Given the description of an element on the screen output the (x, y) to click on. 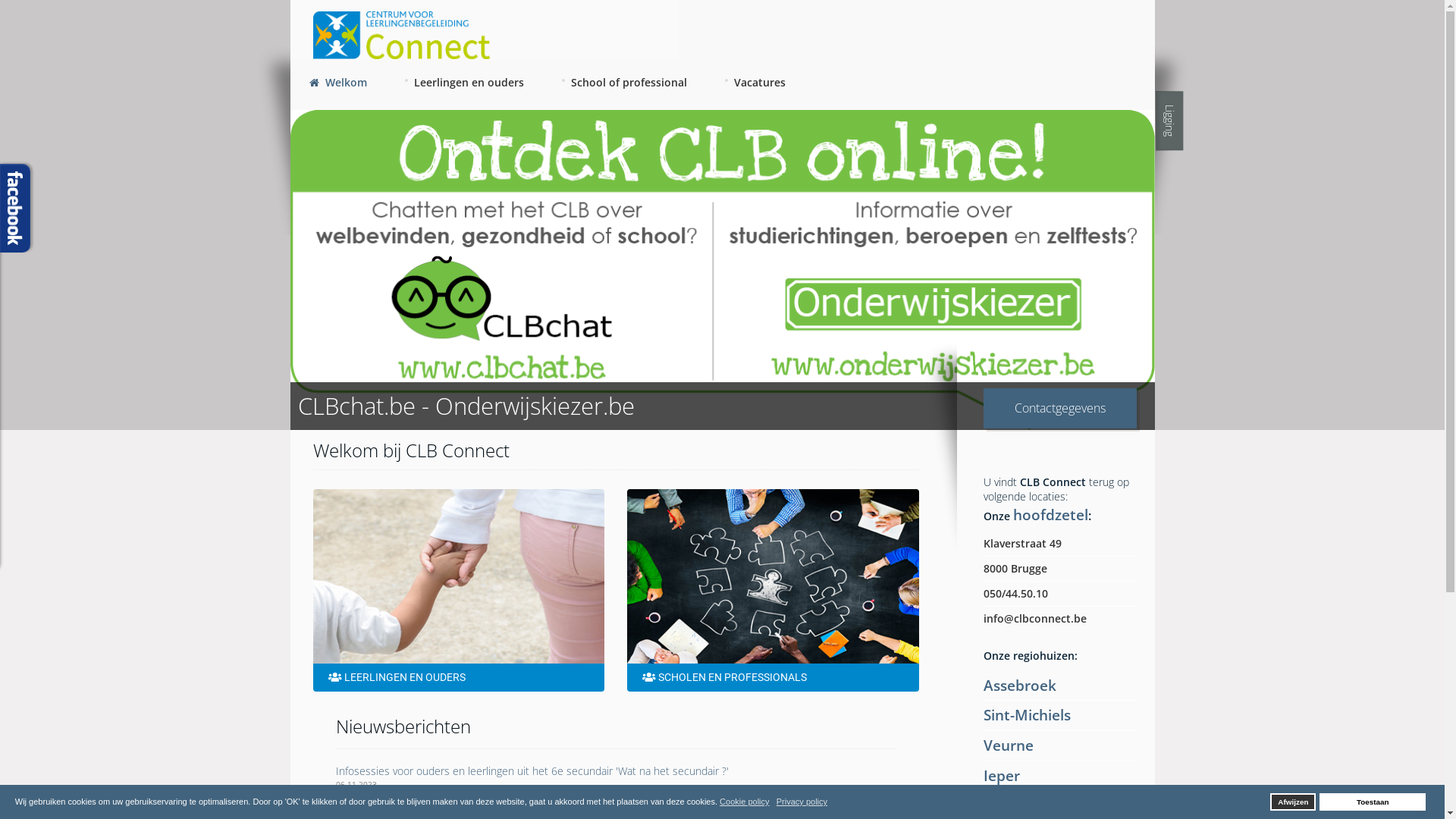
Sint-Michiels Element type: text (1026, 714)
Welkom Element type: text (337, 84)
Veurne Element type: text (1008, 744)
Afwijzen Element type: text (1292, 801)
Cookie policy Element type: text (745, 801)
hoofdzetel Element type: text (1050, 514)
CLBchat.be - Onderwijskiezer.be Element type: hover (721, 269)
CLBchat.be - Onderwijskiezer.be Element type: text (465, 405)
Toestaan Element type: text (1372, 801)
Privacy policy Element type: text (802, 801)
Ligging Element type: text (1184, 104)
Ieper Element type: text (1001, 774)
Assebroek Element type: text (1019, 684)
